Given the description of an element on the screen output the (x, y) to click on. 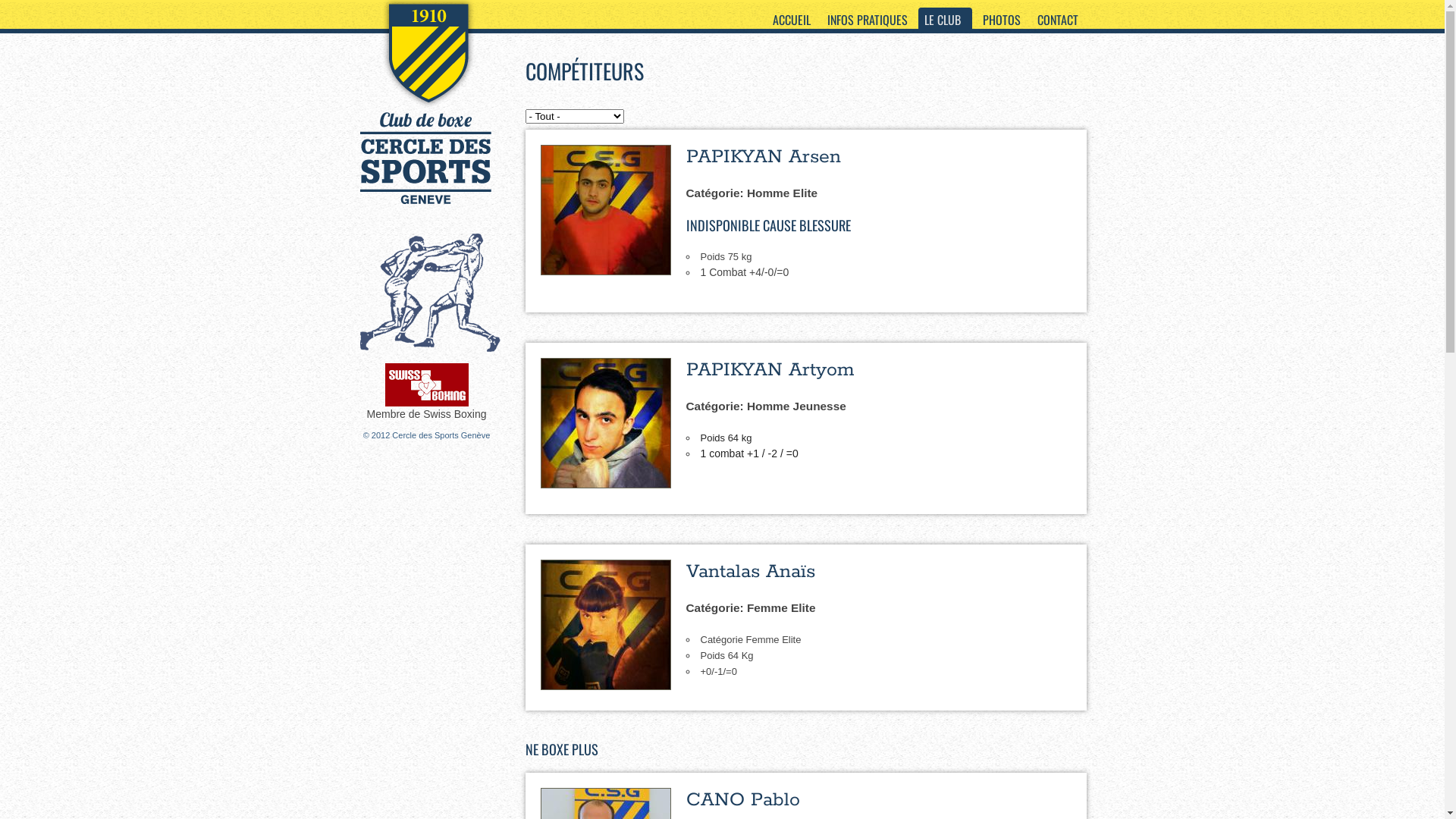
Appliquer Element type: text (42, 15)
LE CLUB Element type: text (944, 19)
CONTACT Element type: text (1057, 19)
Accueil Element type: hover (428, 177)
INFOS PRATIQUES Element type: text (866, 19)
ACCUEIL Element type: text (790, 19)
PHOTOS Element type: text (1001, 19)
